Given the description of an element on the screen output the (x, y) to click on. 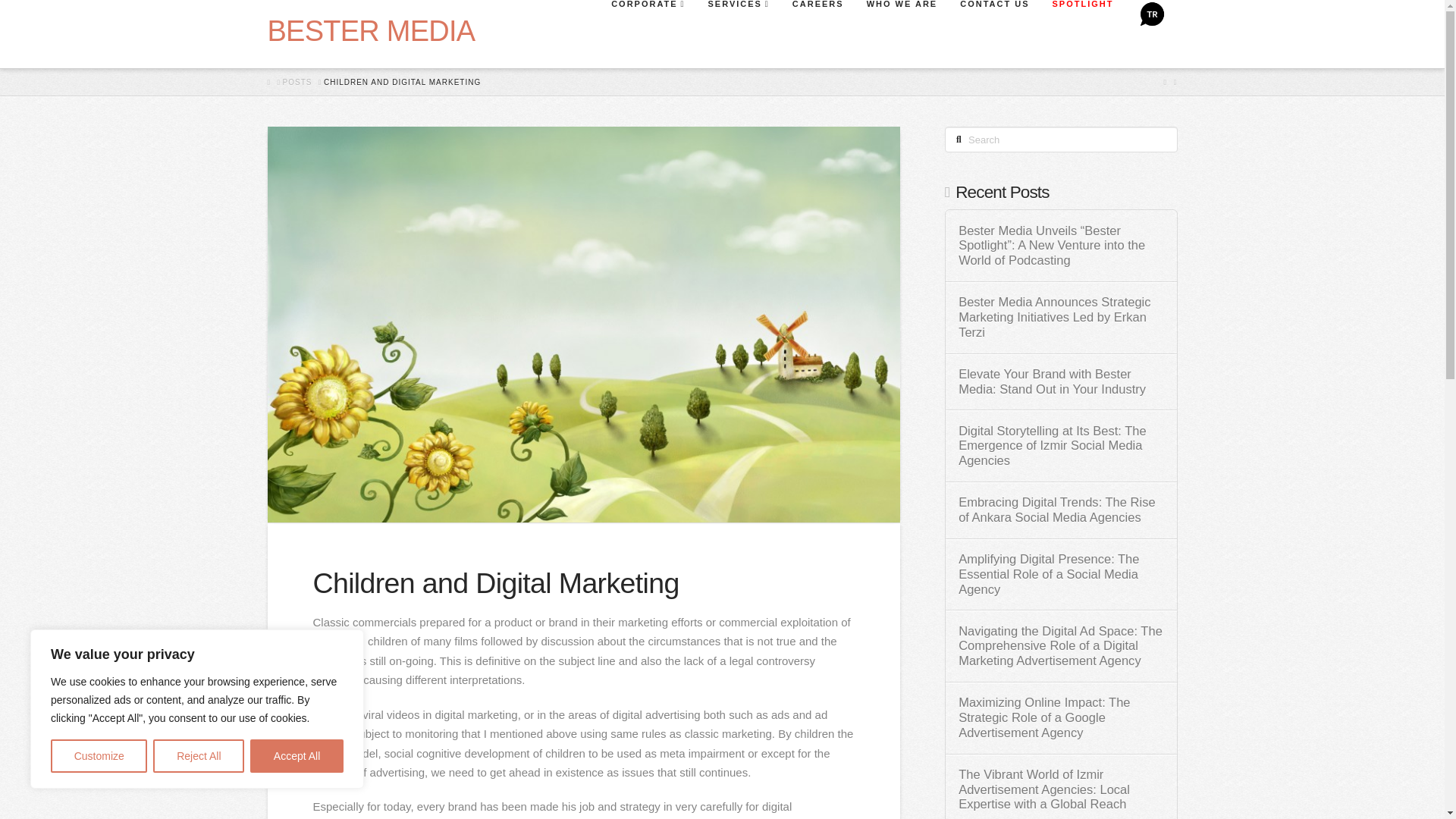
CORPORATE (646, 33)
You Are Here (401, 81)
Customize (98, 756)
Reject All (198, 756)
SERVICES (737, 33)
BESTER MEDIA (370, 30)
Accept All (296, 756)
